Given the description of an element on the screen output the (x, y) to click on. 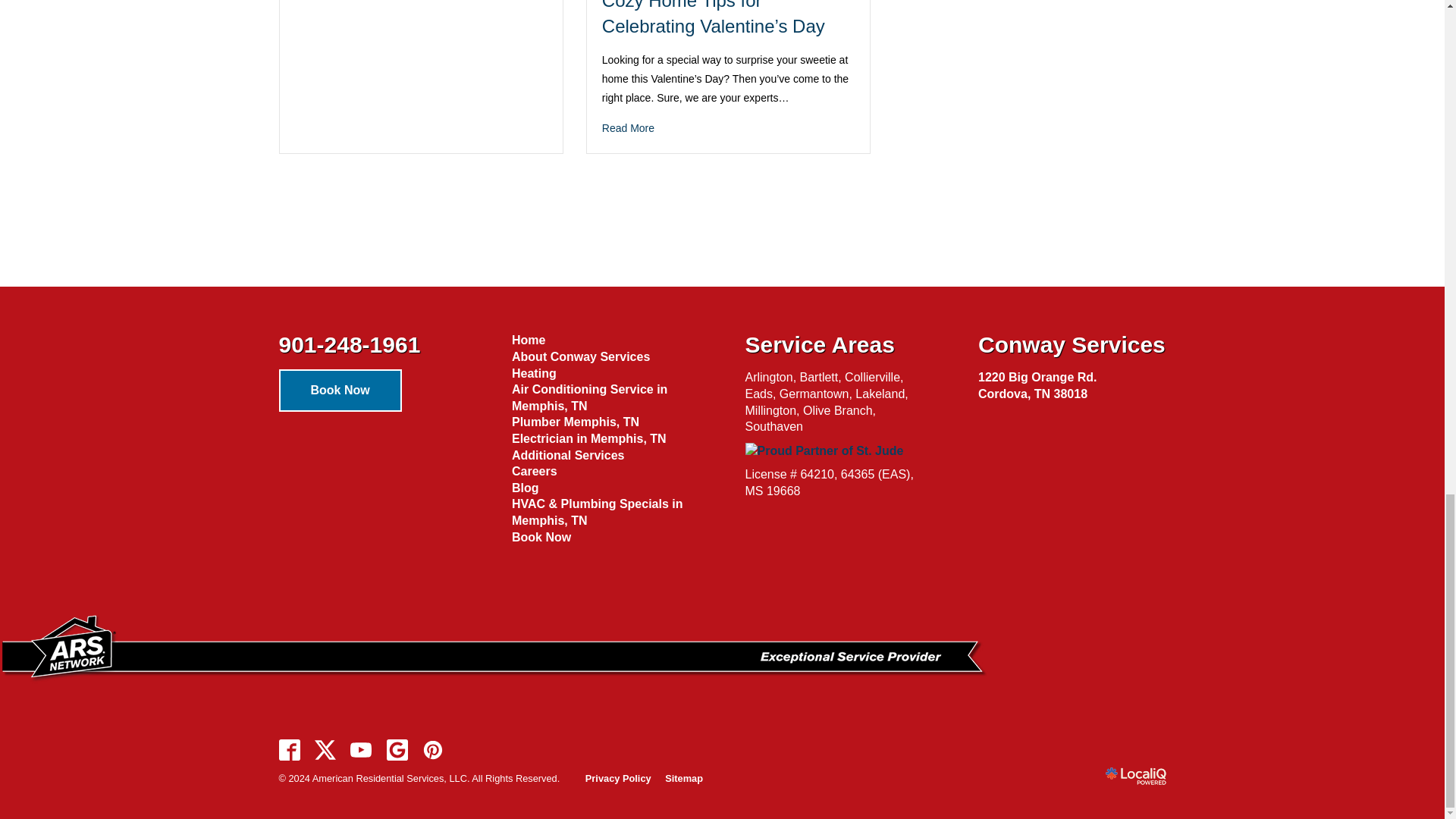
google (396, 749)
youtube (361, 749)
twitter (324, 749)
facebook (289, 749)
pinterest (432, 749)
